Given the description of an element on the screen output the (x, y) to click on. 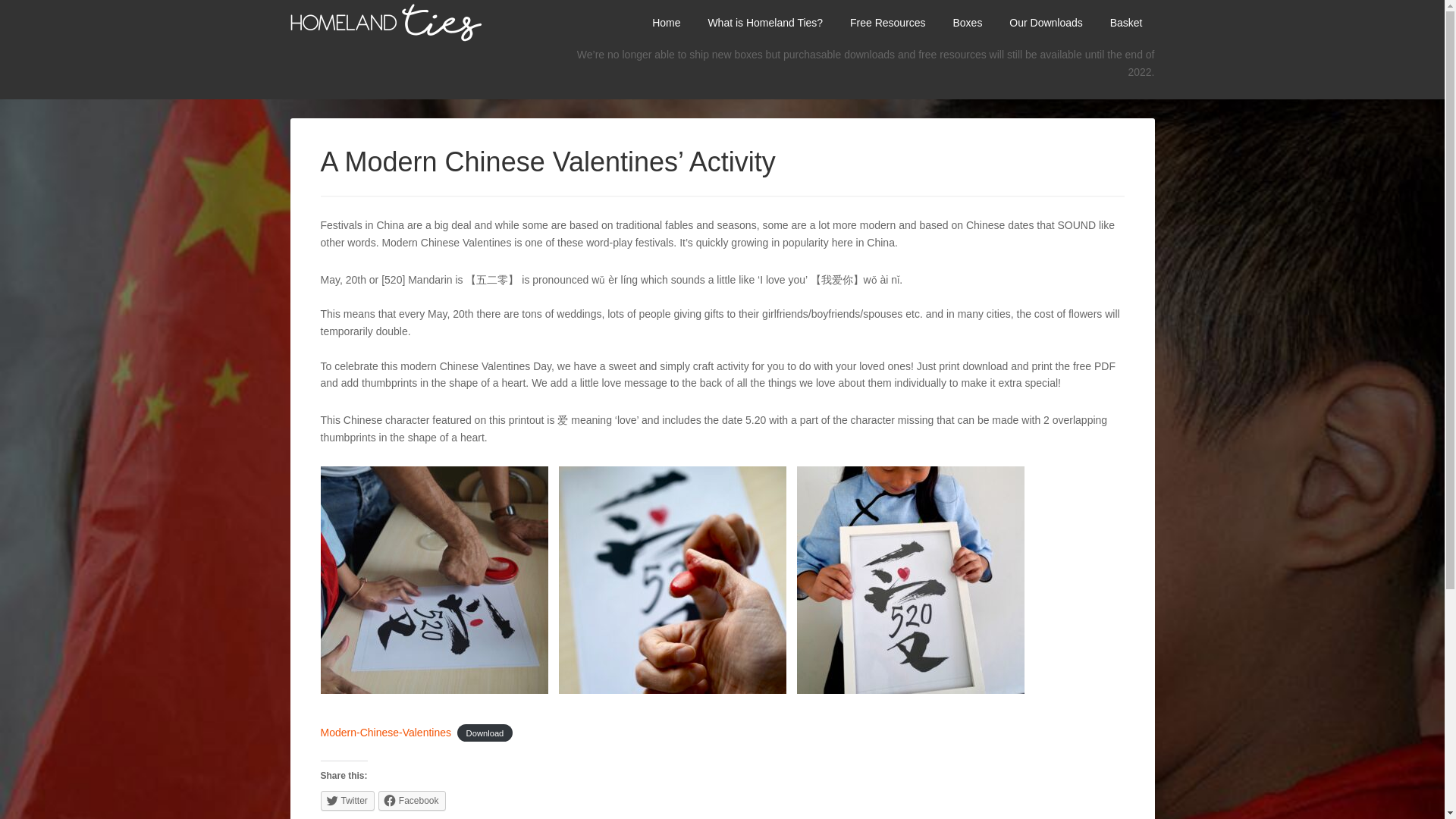
Home (666, 22)
Click to share on Facebook (411, 800)
Boxes (967, 22)
Click to share on Twitter (347, 800)
Free Resources (887, 22)
What is Homeland Ties? (764, 22)
